Given the description of an element on the screen output the (x, y) to click on. 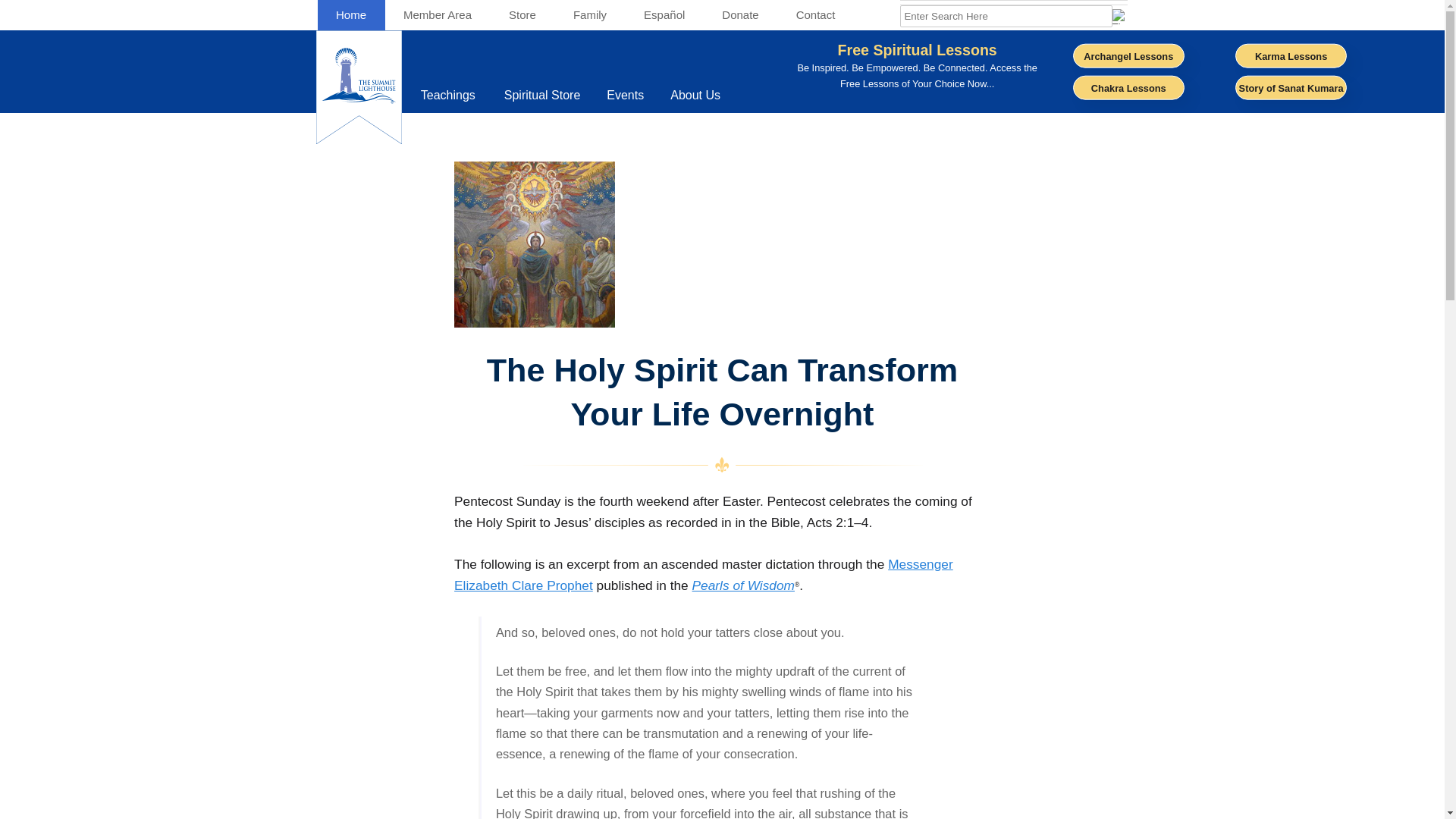
Member Area (745, 95)
Contact (437, 15)
Store (815, 15)
Donate (522, 15)
Family (740, 15)
Teachings (589, 15)
Home (448, 95)
